Given the description of an element on the screen output the (x, y) to click on. 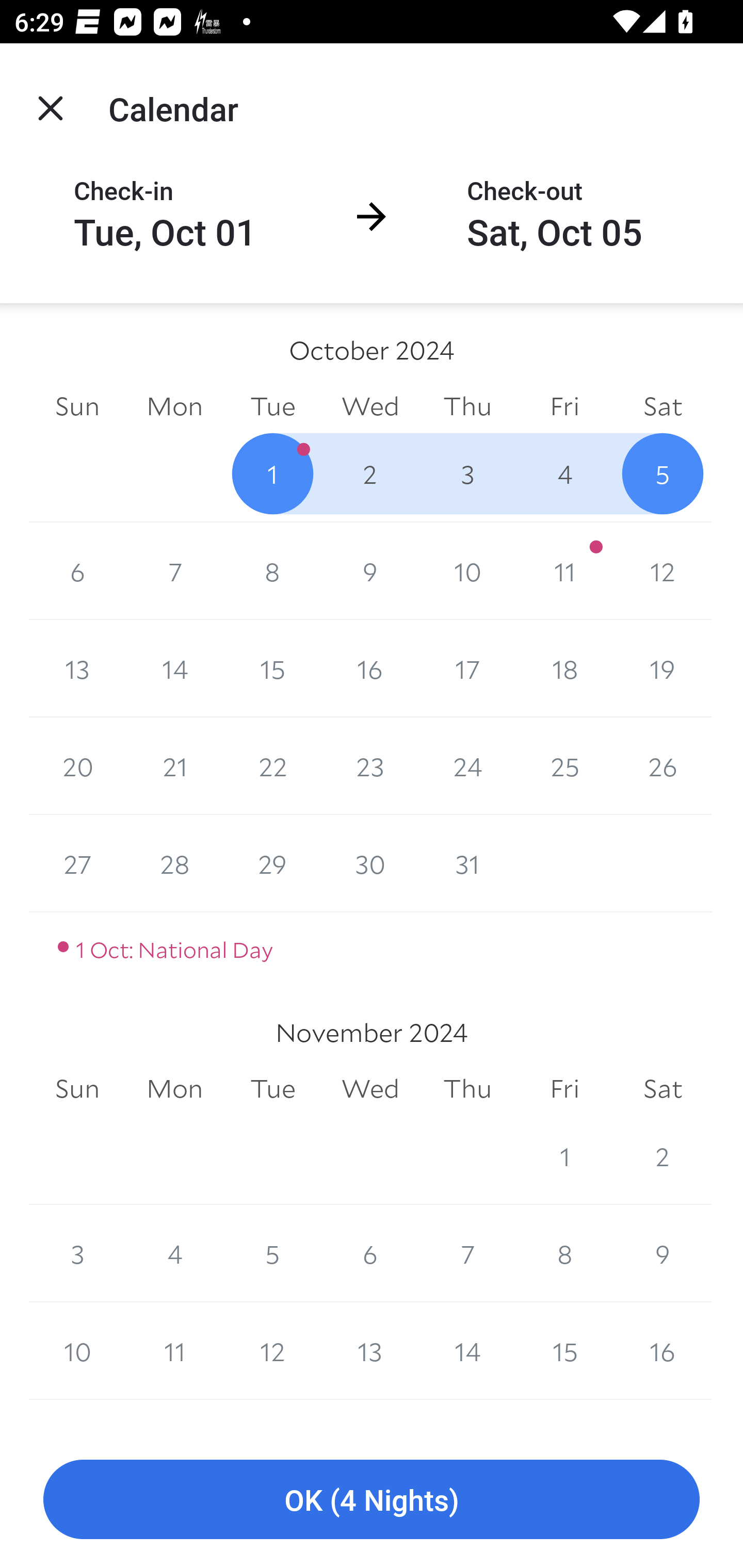
Sun (77, 405)
Mon (174, 405)
Tue (272, 405)
Wed (370, 405)
Thu (467, 405)
Fri (564, 405)
Sat (662, 405)
1 1 October 2024 (272, 473)
2 2 October 2024 (370, 473)
3 3 October 2024 (467, 473)
4 4 October 2024 (564, 473)
5 5 October 2024 (662, 473)
6 6 October 2024 (77, 570)
7 7 October 2024 (174, 570)
8 8 October 2024 (272, 570)
9 9 October 2024 (370, 570)
10 10 October 2024 (467, 570)
11 11 October 2024 (564, 570)
12 12 October 2024 (662, 570)
13 13 October 2024 (77, 668)
14 14 October 2024 (174, 668)
15 15 October 2024 (272, 668)
16 16 October 2024 (370, 668)
17 17 October 2024 (467, 668)
18 18 October 2024 (564, 668)
19 19 October 2024 (662, 668)
20 20 October 2024 (77, 766)
21 21 October 2024 (174, 766)
22 22 October 2024 (272, 766)
23 23 October 2024 (370, 766)
24 24 October 2024 (467, 766)
25 25 October 2024 (564, 766)
26 26 October 2024 (662, 766)
27 27 October 2024 (77, 863)
28 28 October 2024 (174, 863)
29 29 October 2024 (272, 863)
30 30 October 2024 (370, 863)
31 31 October 2024 (467, 863)
Sun (77, 1088)
Mon (174, 1088)
Tue (272, 1088)
Wed (370, 1088)
Thu (467, 1088)
Fri (564, 1088)
Sat (662, 1088)
1 1 November 2024 (564, 1155)
2 2 November 2024 (662, 1155)
3 3 November 2024 (77, 1253)
4 4 November 2024 (174, 1253)
